Given the description of an element on the screen output the (x, y) to click on. 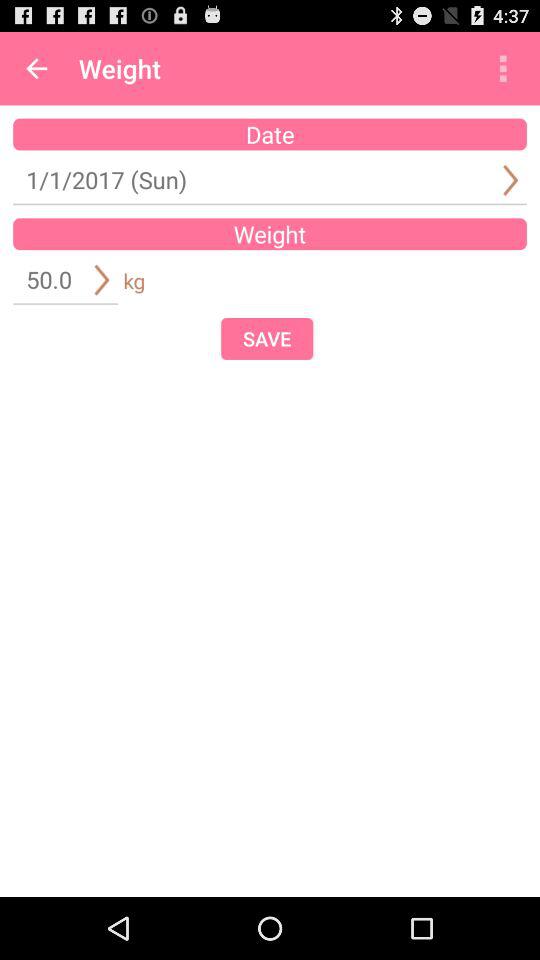
press the icon above date icon (503, 67)
